Given the description of an element on the screen output the (x, y) to click on. 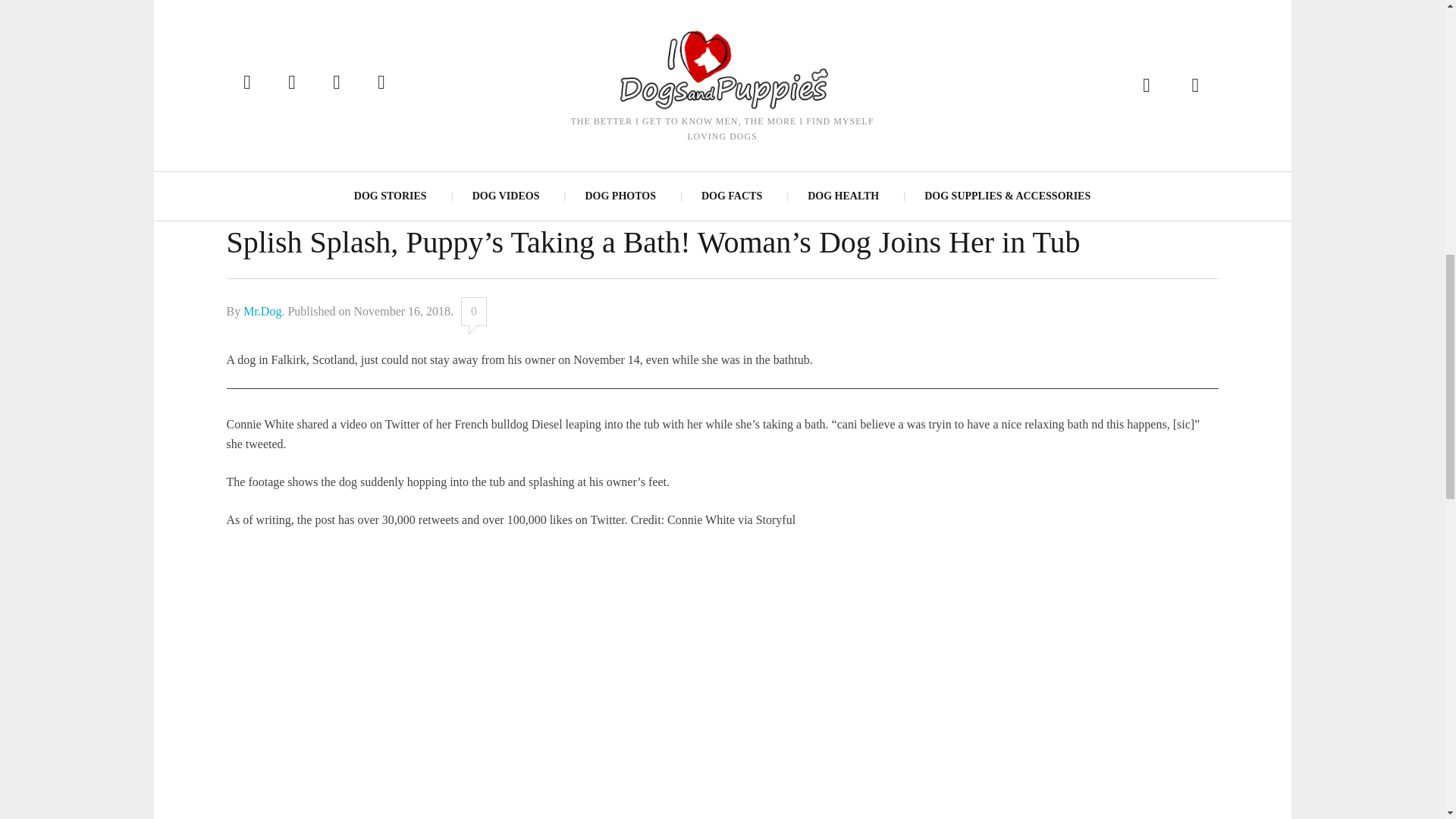
Posts by Mr.Dog (262, 310)
0 (473, 311)
Mr.Dog (262, 310)
